Given the description of an element on the screen output the (x, y) to click on. 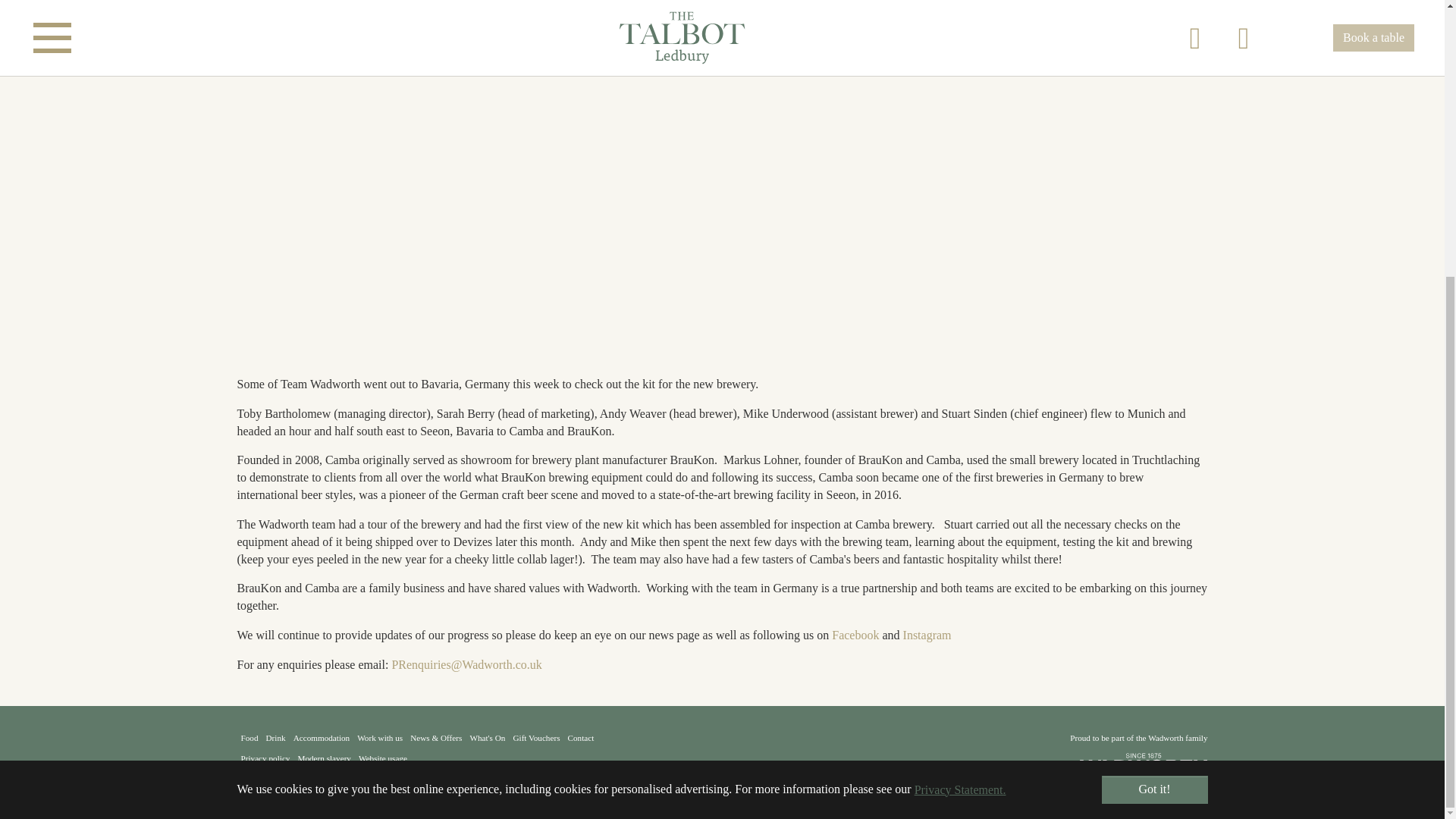
Work with us (379, 737)
Work with us (379, 737)
Food (248, 737)
Contact (581, 737)
Instagram (927, 634)
Facebook (855, 634)
Drink (275, 737)
Food (248, 737)
Website usage (382, 758)
Gift Vouchers (535, 737)
Got it! (1153, 379)
Website by Wisetiger (373, 778)
Drink (275, 737)
Accommodation (321, 737)
What's On (486, 737)
